Given the description of an element on the screen output the (x, y) to click on. 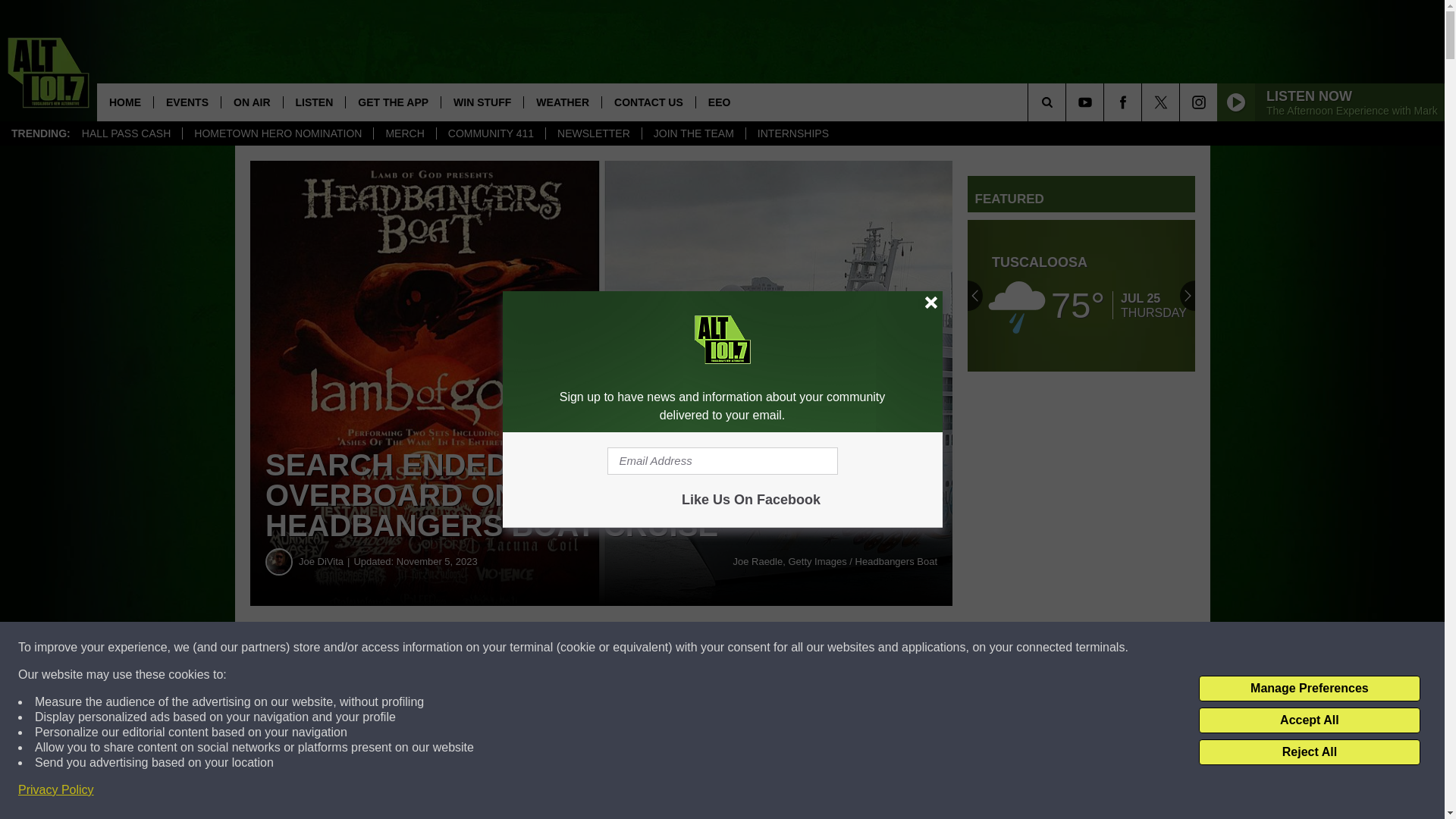
Privacy Policy (55, 789)
SHARE (460, 647)
NEWSLETTER (593, 133)
HOME (124, 102)
COMMUNITY 411 (489, 133)
WIN STUFF (481, 102)
MERCH (403, 133)
INTERNSHIPS (792, 133)
Email Address (722, 461)
SEARCH (1068, 102)
ON AIR (251, 102)
Manage Preferences (1309, 688)
LISTEN (313, 102)
HALL PASS CASH (126, 133)
JOIN THE TEAM (693, 133)
